Given the description of an element on the screen output the (x, y) to click on. 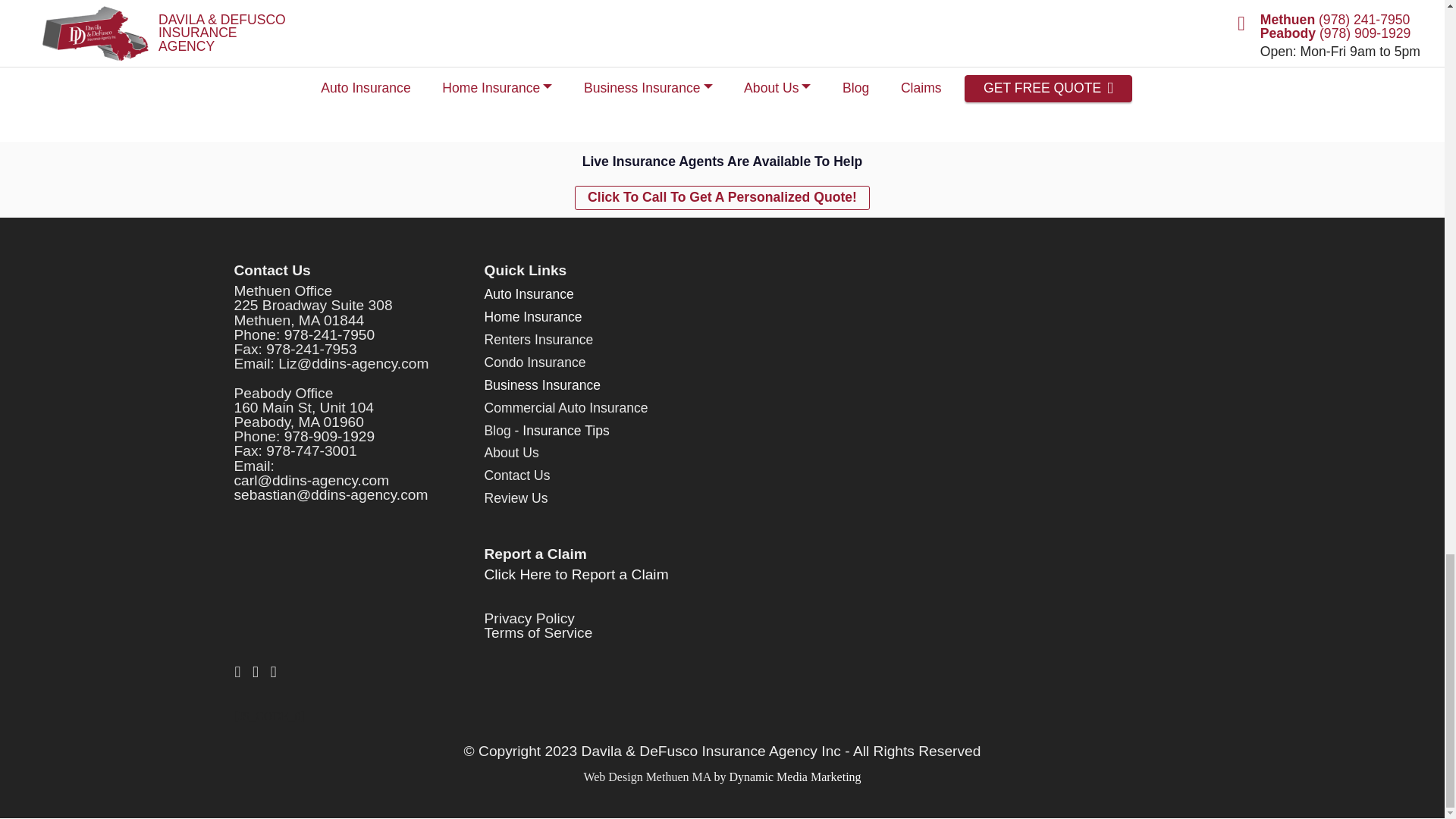
Commercial Auto Insurance (565, 407)
Renters Insurance (537, 339)
Condo Insurance (534, 362)
Auto Insurance (528, 294)
Click To Call To Get A Personalized Quote! (722, 197)
978-909-1929 (329, 436)
Home Insurance (531, 316)
Business Insurance (541, 385)
978-241-7950 (329, 334)
